Given the description of an element on the screen output the (x, y) to click on. 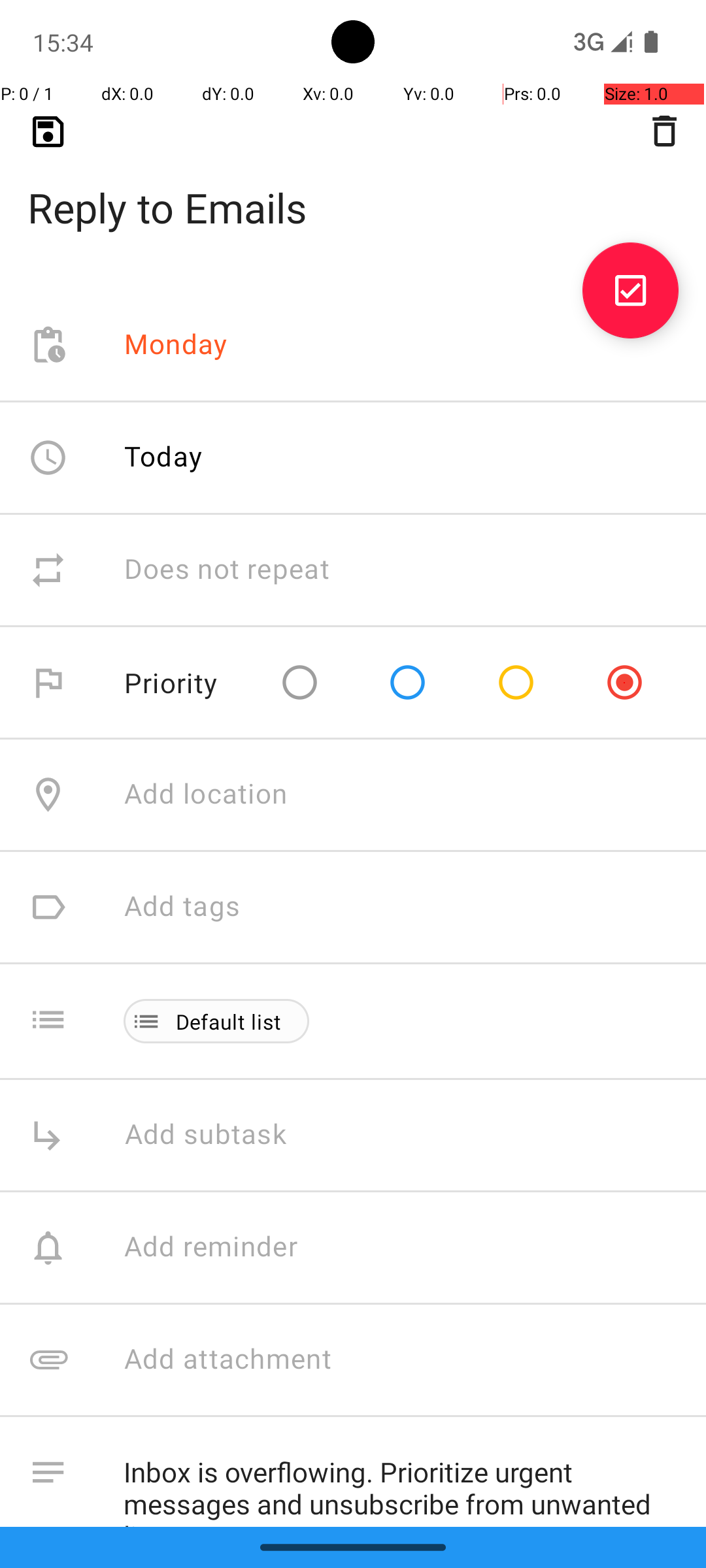
Inbox is overflowing. Prioritize urgent messages and unsubscribe from unwanted lists. Element type: android.widget.EditText (400, 1481)
